Given the description of an element on the screen output the (x, y) to click on. 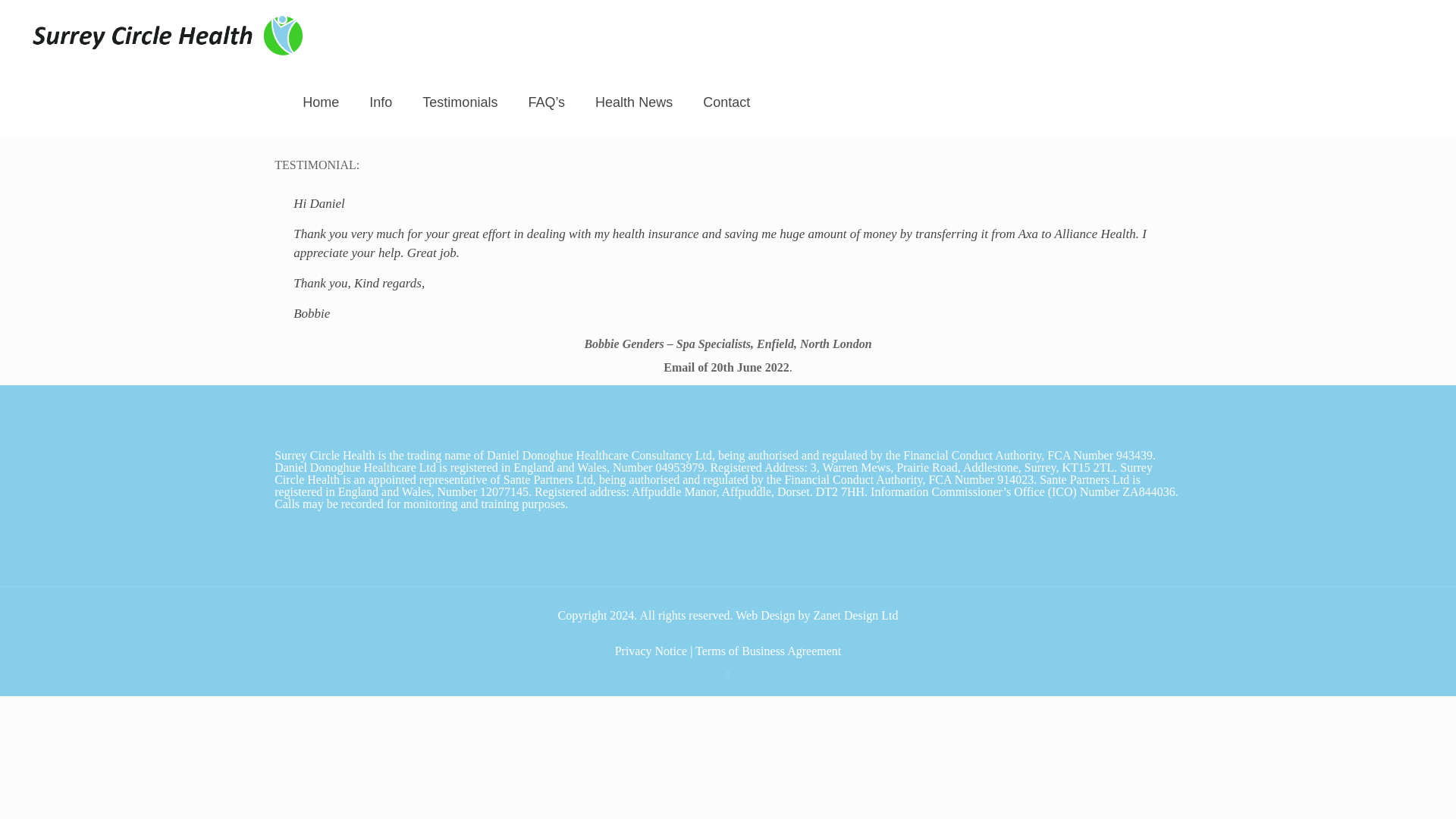
LinkedIn (727, 674)
Contact (726, 101)
Privacy Notice (650, 650)
Testimonials (459, 101)
Home (319, 101)
Health News (633, 101)
Web Design by Zanet Design Ltd (816, 615)
Surrey Circle Health (168, 33)
Terms of Business Agreement (768, 650)
